Given the description of an element on the screen output the (x, y) to click on. 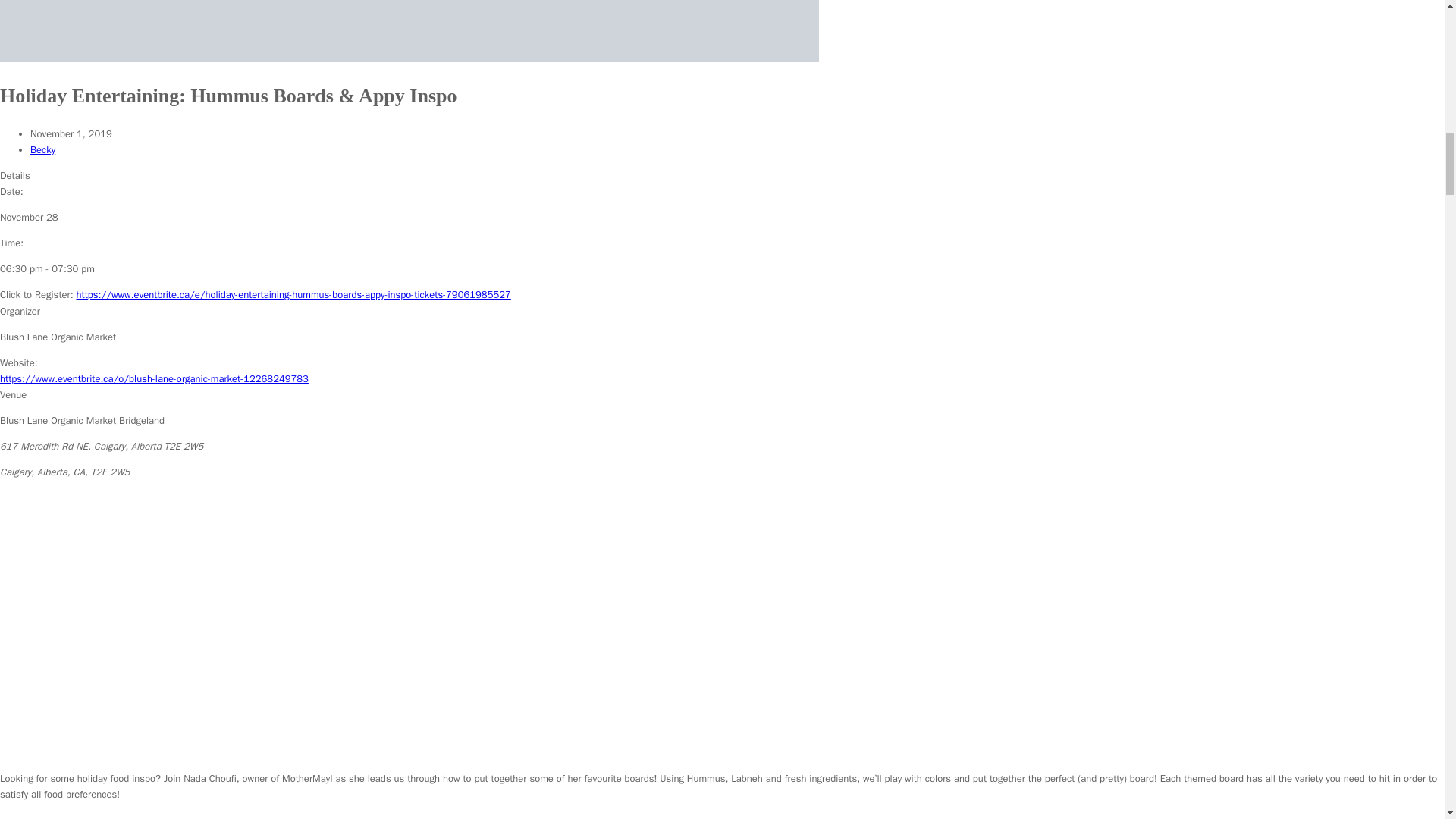
Posts by Becky (42, 149)
Becky (42, 149)
